Given the description of an element on the screen output the (x, y) to click on. 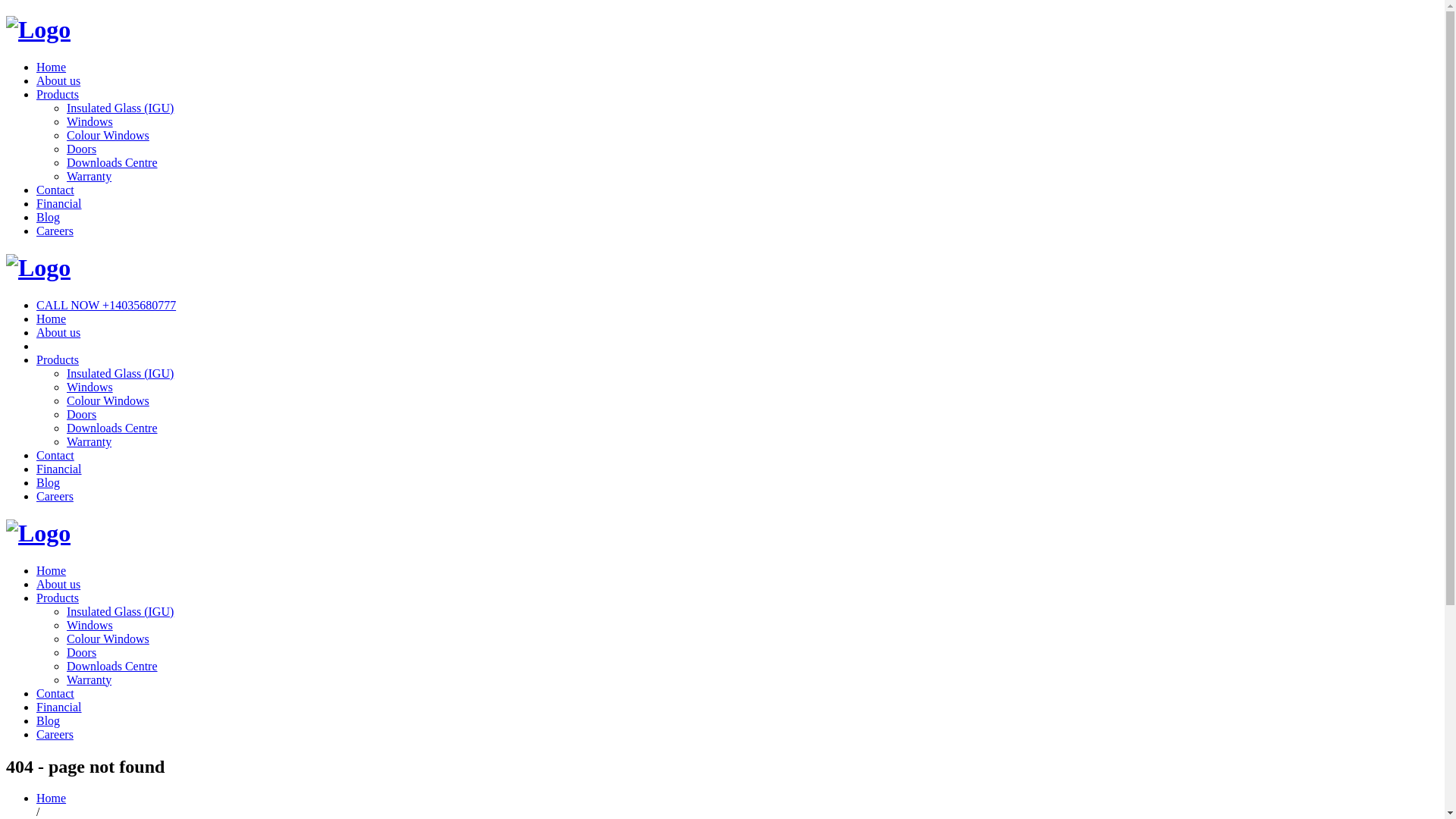
Products Element type: text (57, 597)
Financial Element type: text (58, 706)
Windows Element type: text (89, 624)
Products Element type: text (57, 359)
Downloads Centre Element type: text (111, 162)
About us Element type: text (58, 332)
Blog Element type: text (47, 482)
Home Element type: text (50, 797)
Financial Element type: text (58, 203)
Insulated Glass (IGU) Element type: text (119, 107)
Home Element type: text (50, 318)
Contact Element type: text (55, 693)
Home Element type: text (50, 66)
Insulated Glass (IGU) Element type: text (119, 373)
Downloads Centre Element type: text (111, 665)
Careers Element type: text (54, 230)
Careers Element type: text (54, 734)
Contact Element type: text (55, 189)
Colour Windows Element type: text (107, 400)
Home Element type: text (50, 570)
Doors Element type: text (81, 413)
Insulated Glass (IGU) Element type: text (119, 611)
Warranty Element type: text (88, 441)
About us Element type: text (58, 80)
Doors Element type: text (81, 148)
Contact Element type: text (55, 454)
Downloads Centre Element type: text (111, 427)
Windows Element type: text (89, 386)
Warranty Element type: text (88, 175)
Windows Element type: text (89, 121)
Blog Element type: text (47, 216)
About us Element type: text (58, 583)
Blog Element type: text (47, 720)
Colour Windows Element type: text (107, 638)
Doors Element type: text (81, 652)
Products Element type: text (57, 93)
Warranty Element type: text (88, 679)
Colour Windows Element type: text (107, 134)
CALL NOW +14035680777 Element type: text (105, 304)
Financial Element type: text (58, 468)
Careers Element type: text (54, 495)
